Given the description of an element on the screen output the (x, y) to click on. 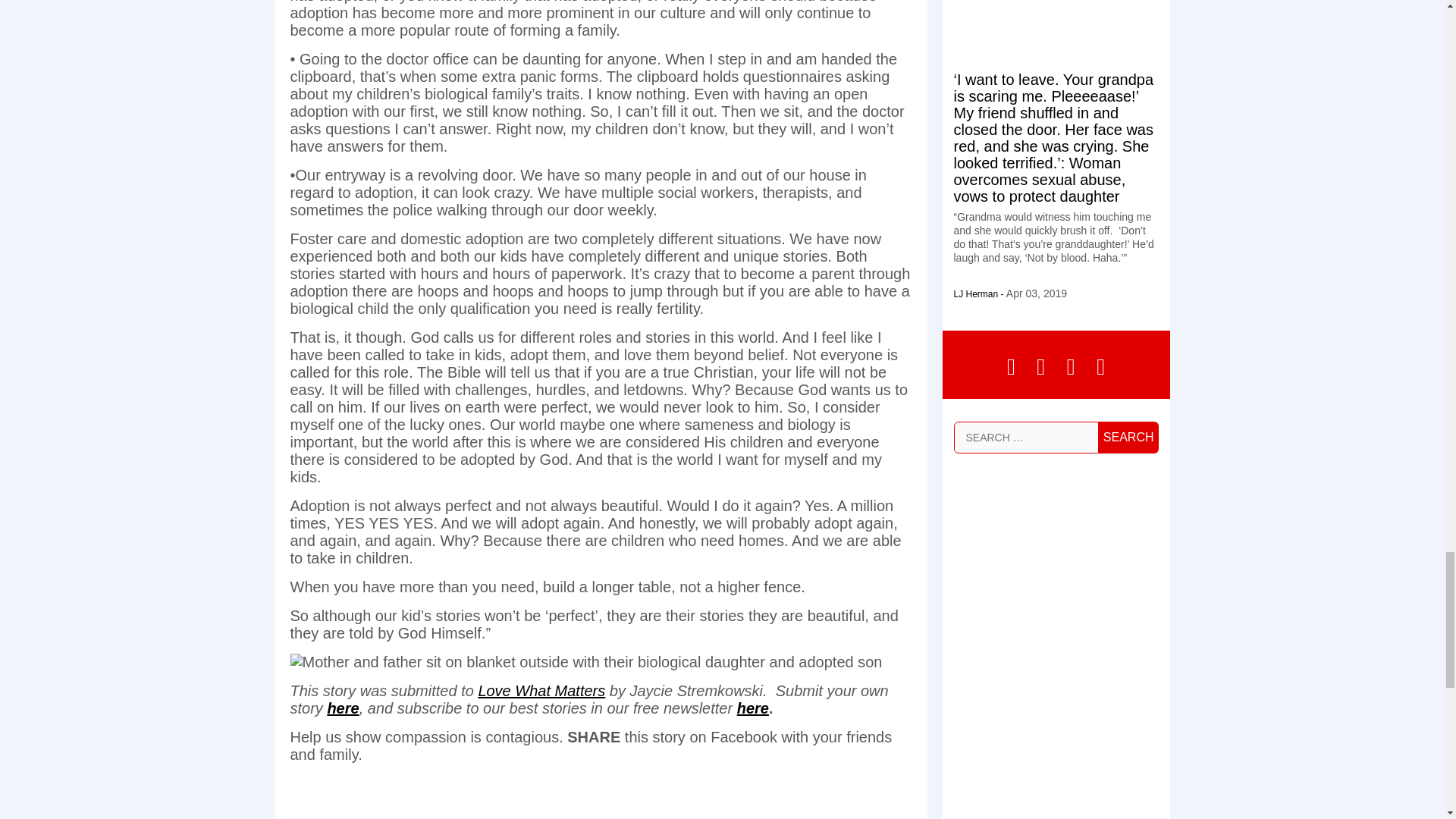
Search (1128, 437)
Search (1128, 437)
April 3, 2019 (1036, 292)
